Given the description of an element on the screen output the (x, y) to click on. 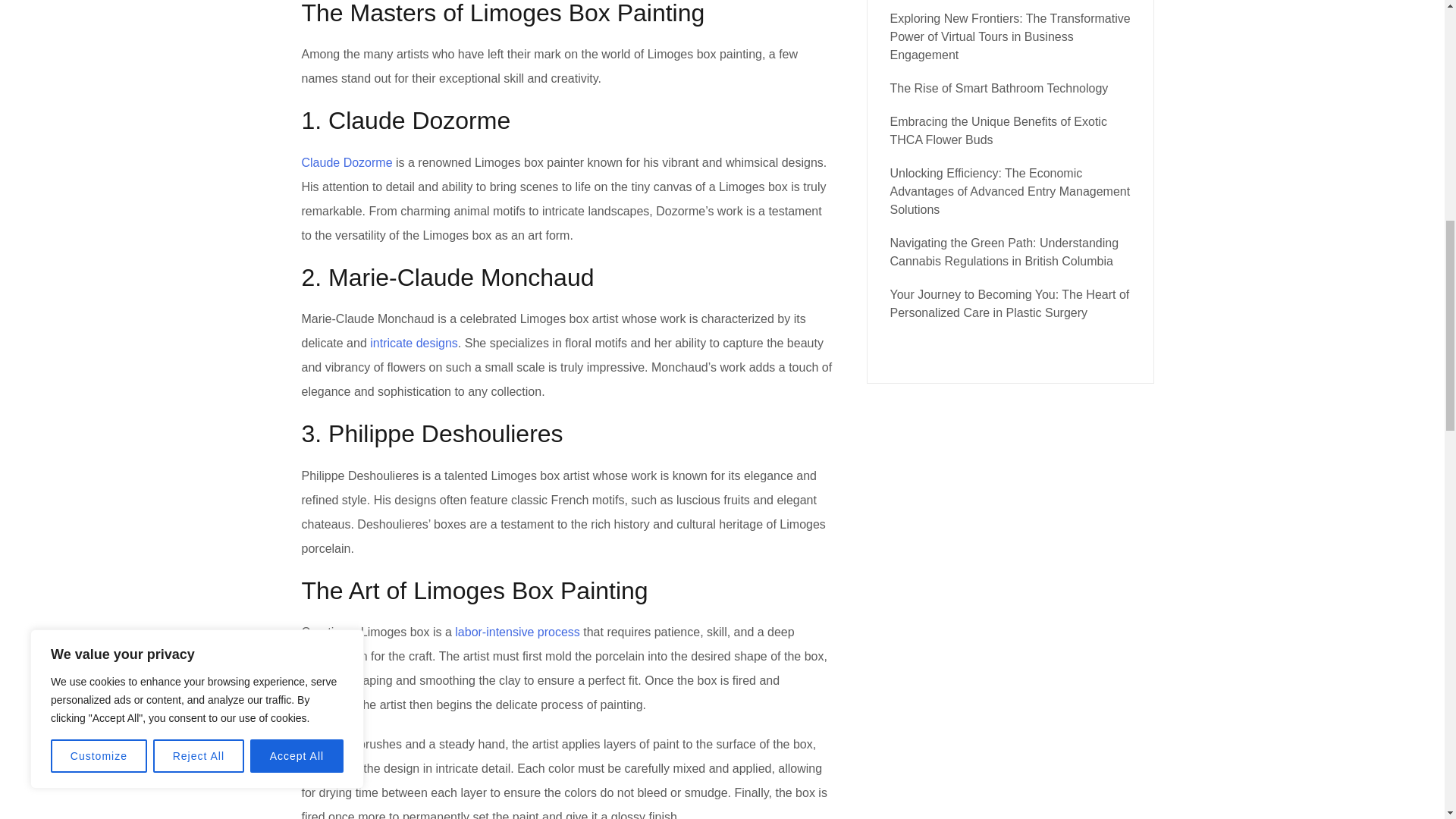
Claude Dozorme (347, 162)
intricate designs (413, 342)
labor-intensive process (516, 631)
